Given the description of an element on the screen output the (x, y) to click on. 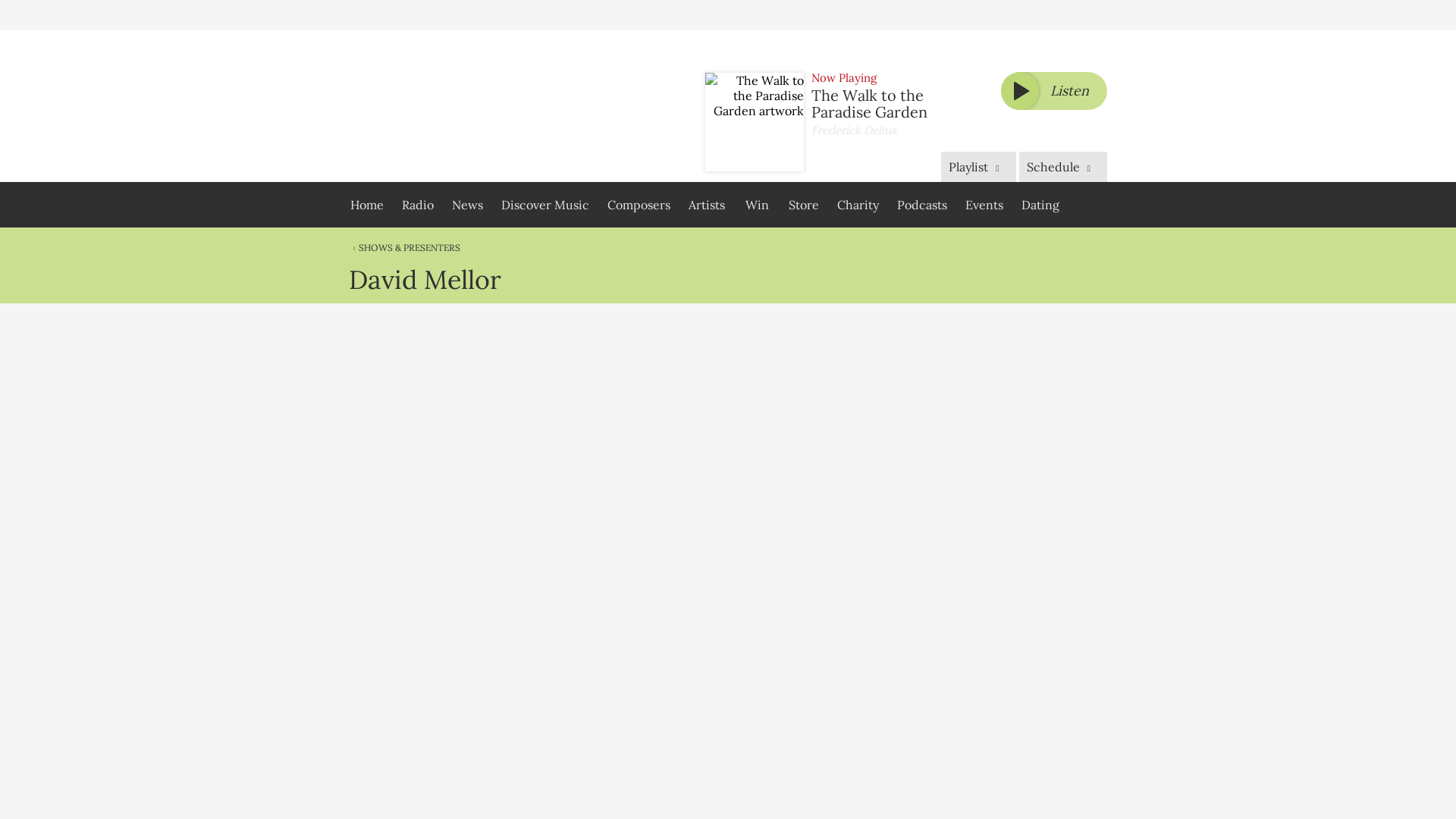
Events (983, 204)
The Walk to the Paradise Garden (868, 103)
Discover Music (545, 204)
Home (366, 204)
Podcasts (922, 204)
Win (755, 204)
Composers (638, 204)
Classic FM (442, 106)
Playlist (977, 166)
News (467, 204)
